Given the description of an element on the screen output the (x, y) to click on. 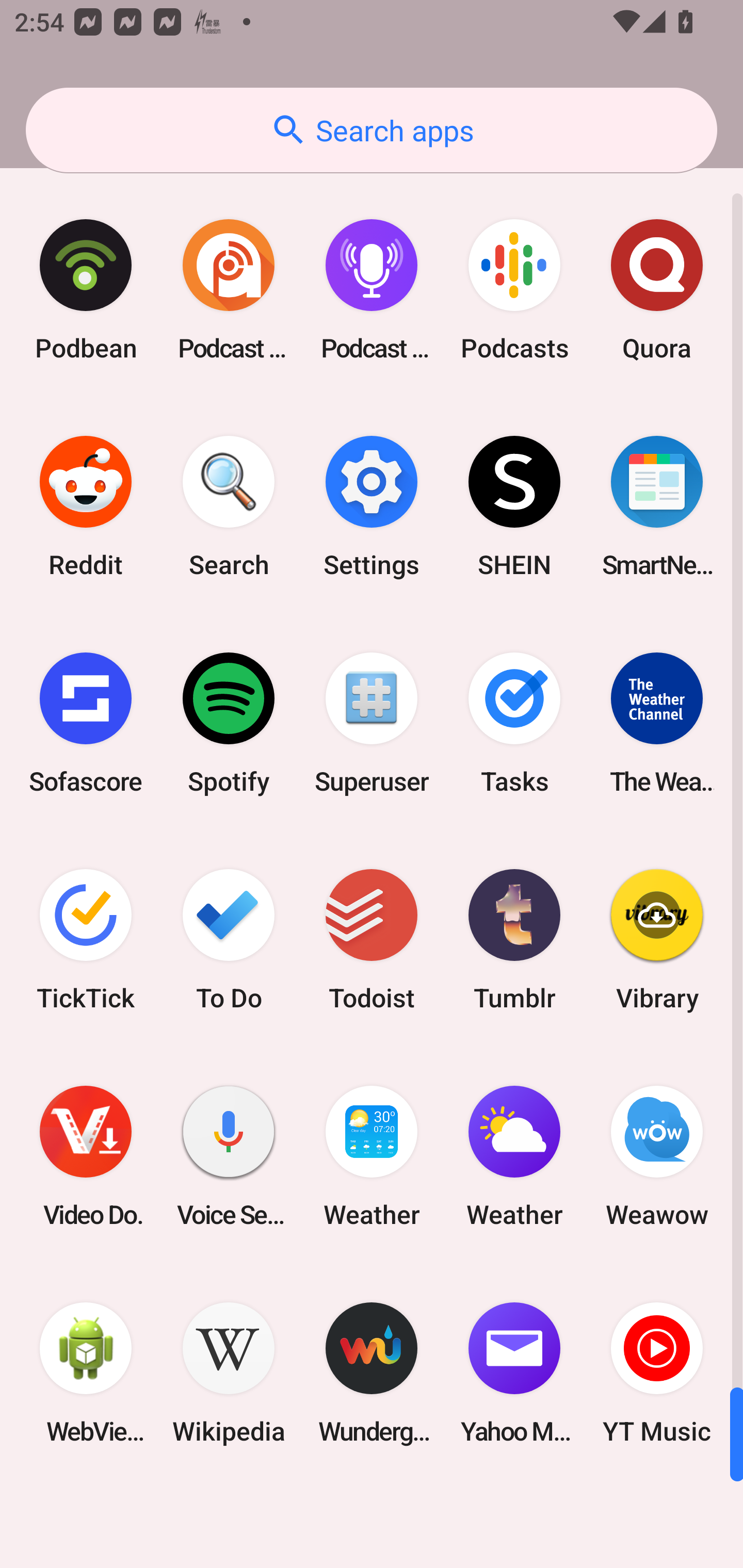
  Search apps (371, 130)
Podbean (85, 289)
Podcast Addict (228, 289)
Podcast Player (371, 289)
Podcasts (514, 289)
Quora (656, 289)
Reddit (85, 506)
Search (228, 506)
Settings (371, 506)
SHEIN (514, 506)
SmartNews (656, 506)
Sofascore (85, 722)
Spotify (228, 722)
Superuser (371, 722)
Tasks (514, 722)
The Weather Channel (656, 722)
TickTick (85, 939)
To Do (228, 939)
Todoist (371, 939)
Tumblr (514, 939)
Vibrary (656, 939)
Video Downloader & Ace Player (85, 1156)
Voice Search (228, 1156)
Weather (371, 1156)
Weather (514, 1156)
Weawow (656, 1156)
WebView Browser Tester (85, 1373)
Wikipedia (228, 1373)
Wunderground (371, 1373)
Yahoo Mail (514, 1373)
YT Music (656, 1373)
